Given the description of an element on the screen output the (x, y) to click on. 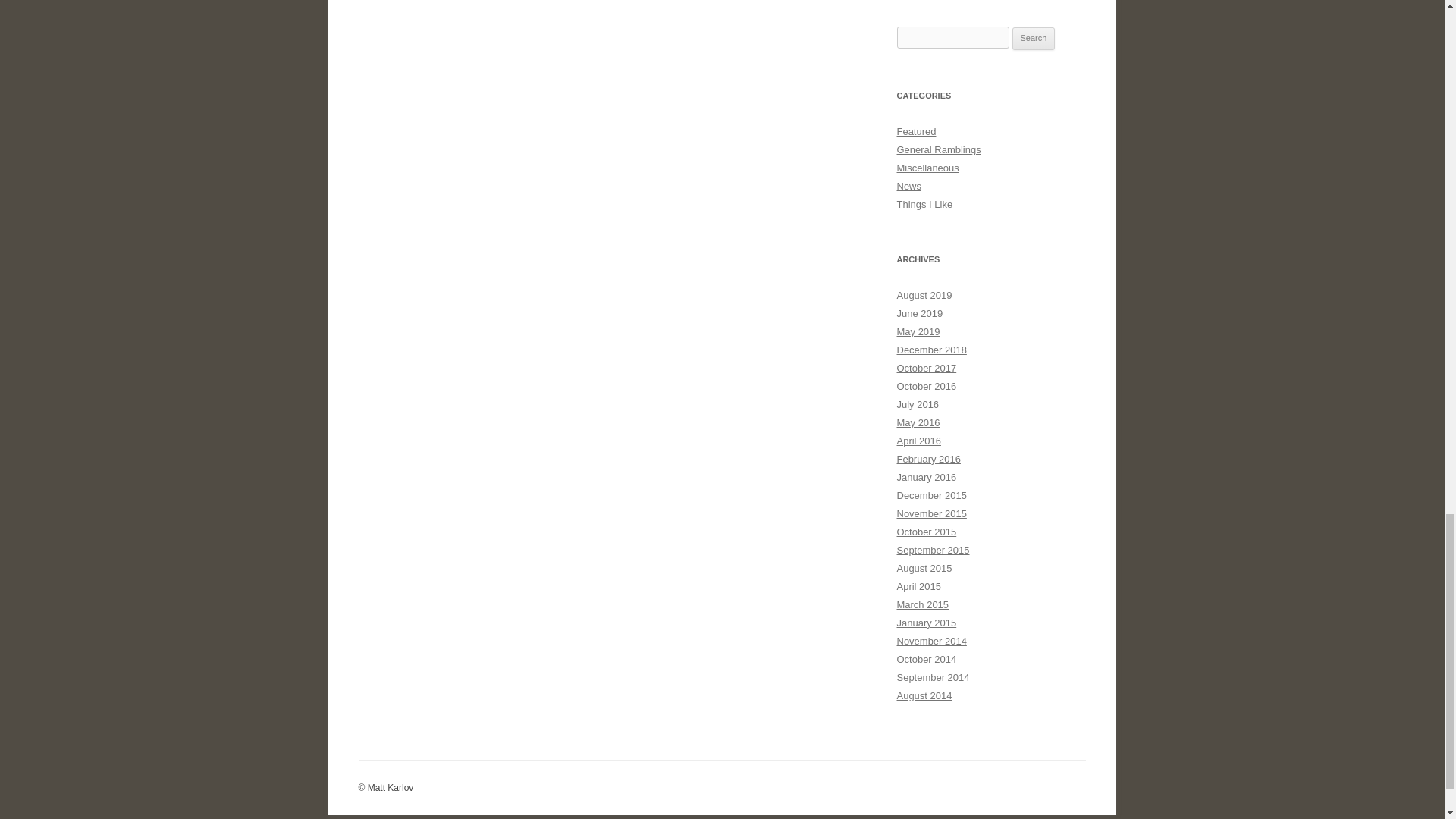
Search (1033, 38)
